Given the description of an element on the screen output the (x, y) to click on. 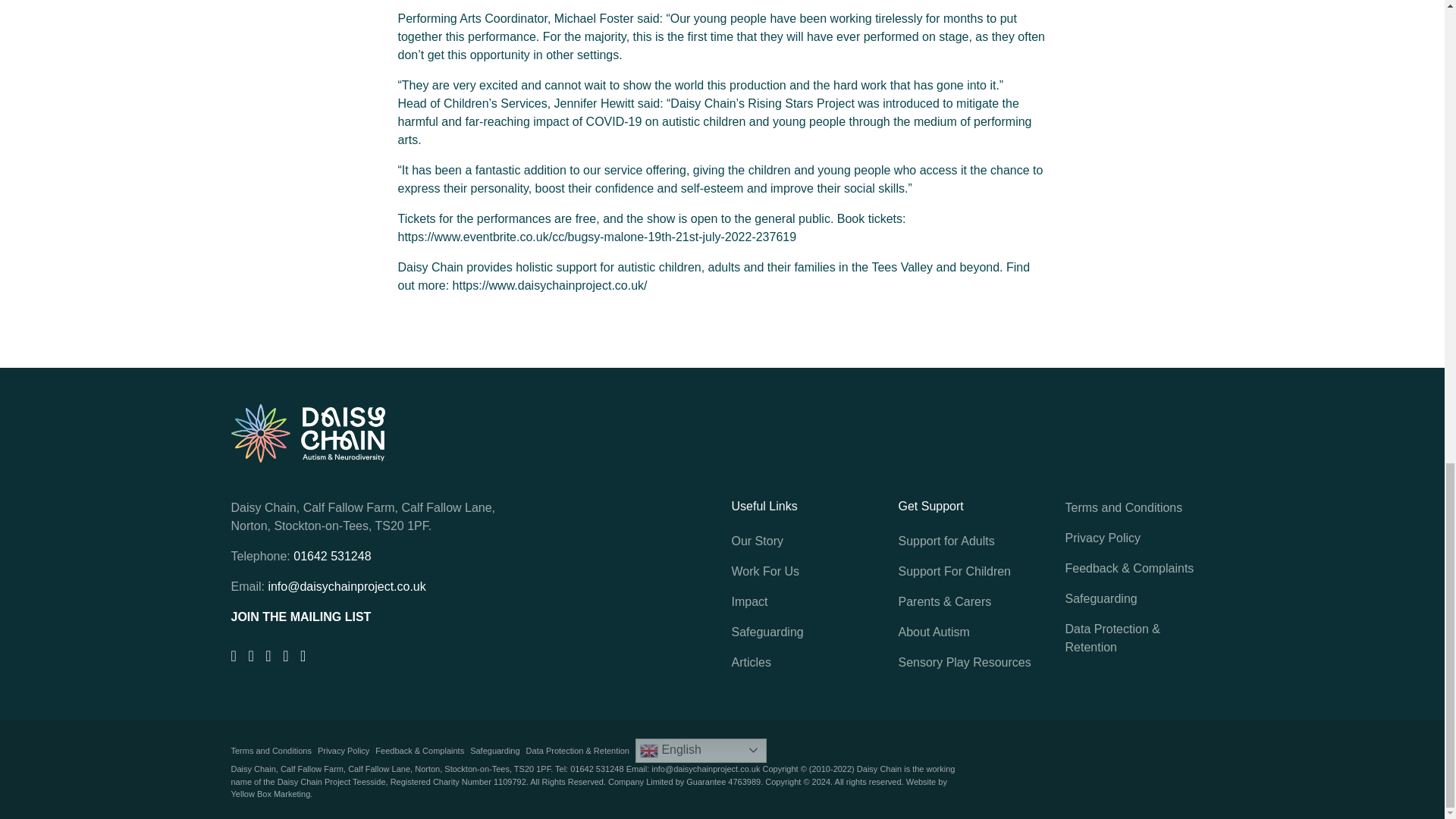
Terms and Conditions (270, 750)
Privacy Policy (343, 750)
Safeguarding (494, 750)
